Given the description of an element on the screen output the (x, y) to click on. 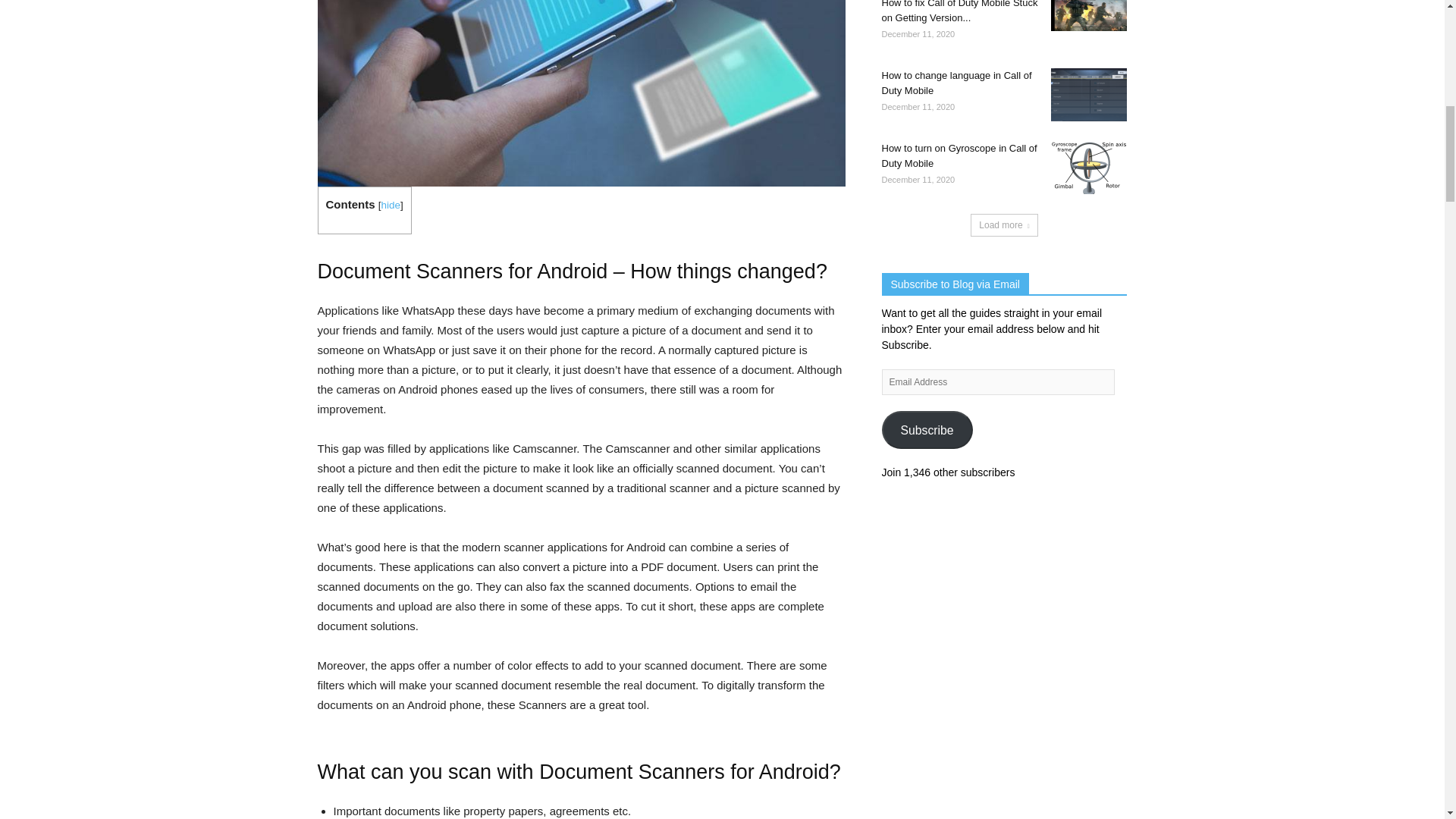
hide (390, 204)
